Given the description of an element on the screen output the (x, y) to click on. 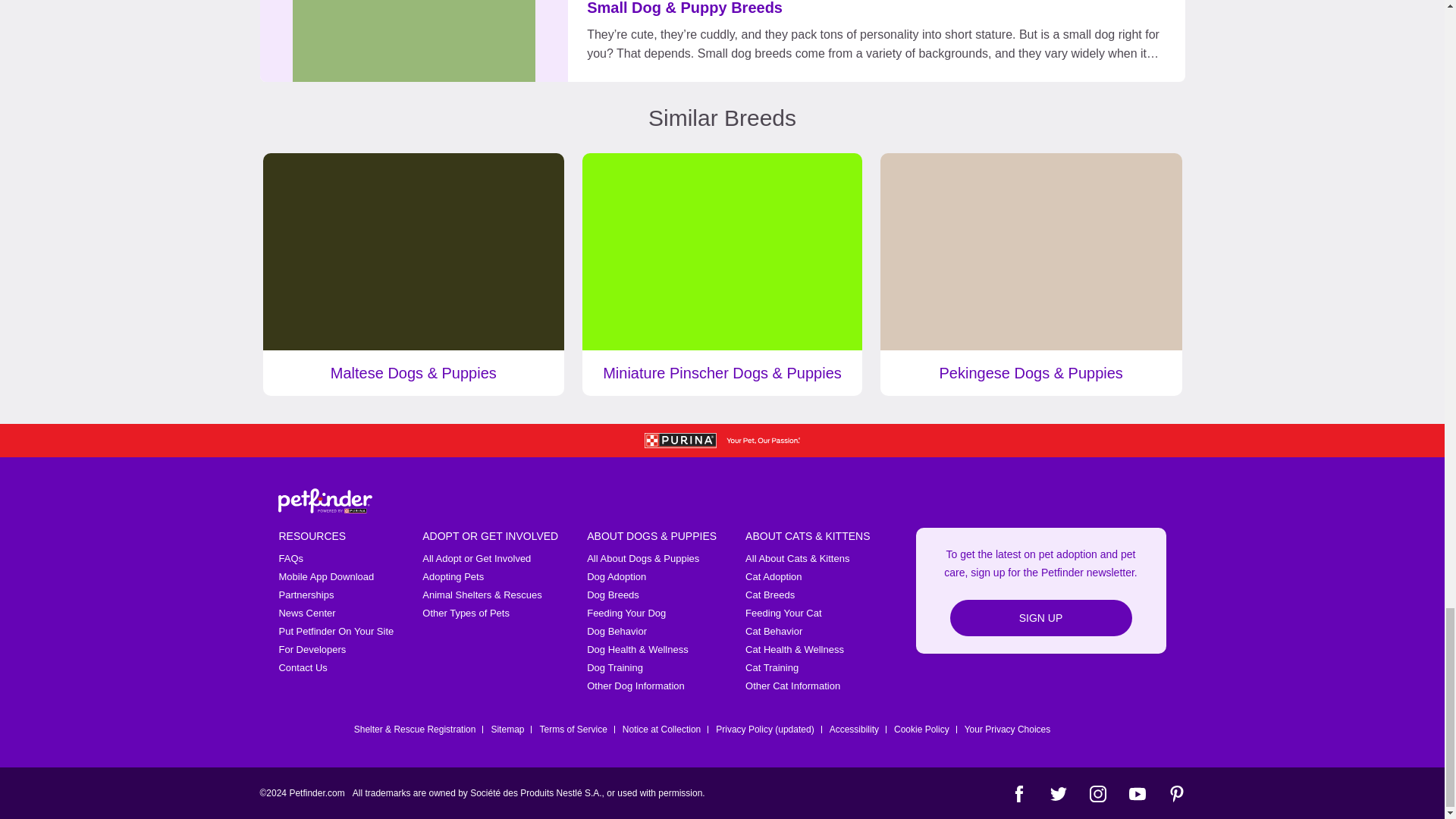
pinterest (1176, 793)
facebook (1018, 793)
Petfinder Logo (325, 500)
twitter (1057, 793)
instagram (1097, 793)
youtube (1136, 793)
